Given the description of an element on the screen output the (x, y) to click on. 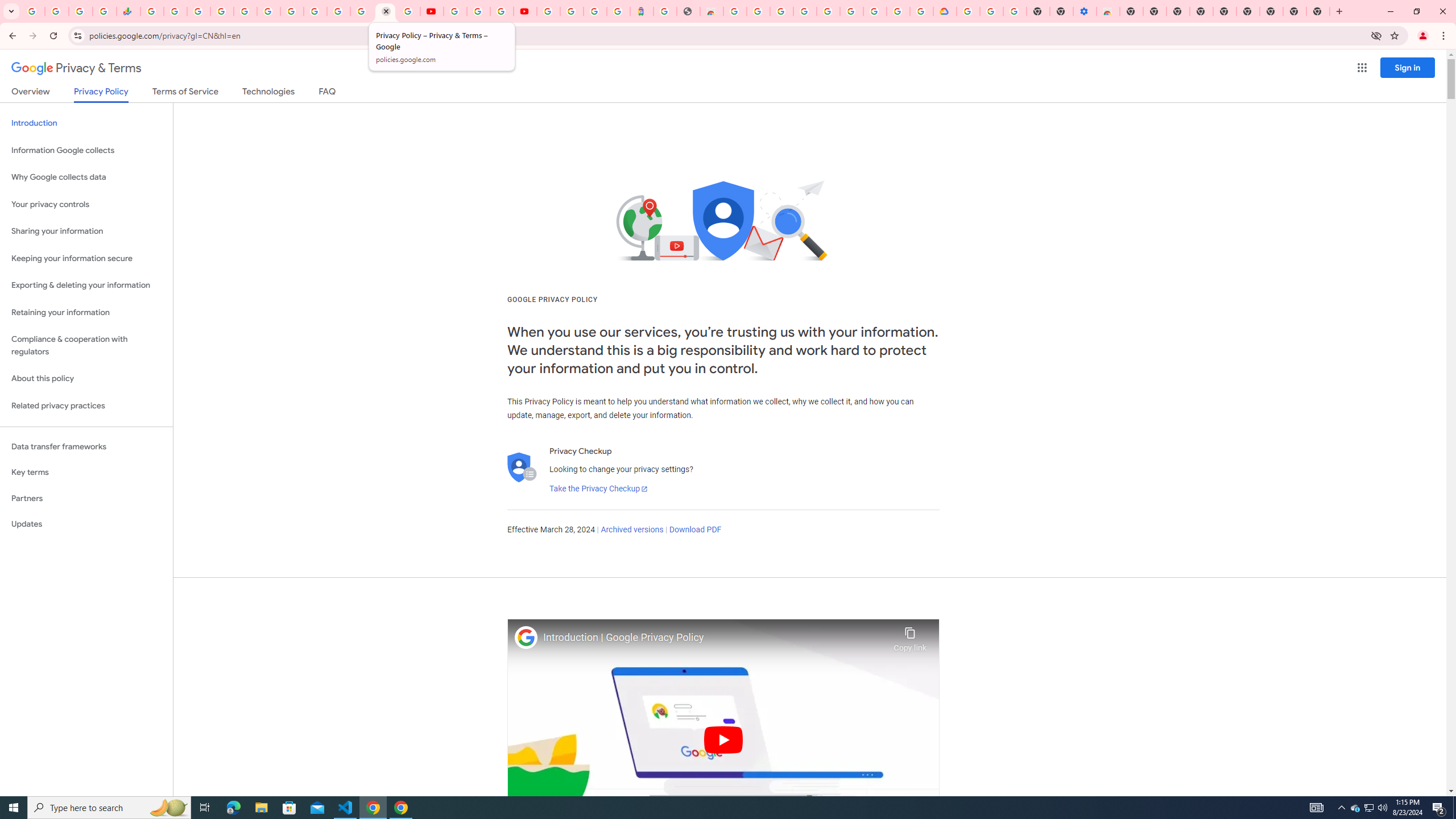
Sign in - Google Accounts (827, 11)
Sign in - Google Accounts (968, 11)
Browse the Google Chrome Community - Google Chrome Community (921, 11)
Atour Hotel - Google hotels (641, 11)
Introduction (86, 122)
Chrome Web Store - Accessibility extensions (1108, 11)
Data transfer frameworks (86, 446)
Retaining your information (86, 312)
Ad Settings (804, 11)
Your privacy controls (86, 204)
Android TV Policies and Guidelines - Transparency Center (291, 11)
